Given the description of an element on the screen output the (x, y) to click on. 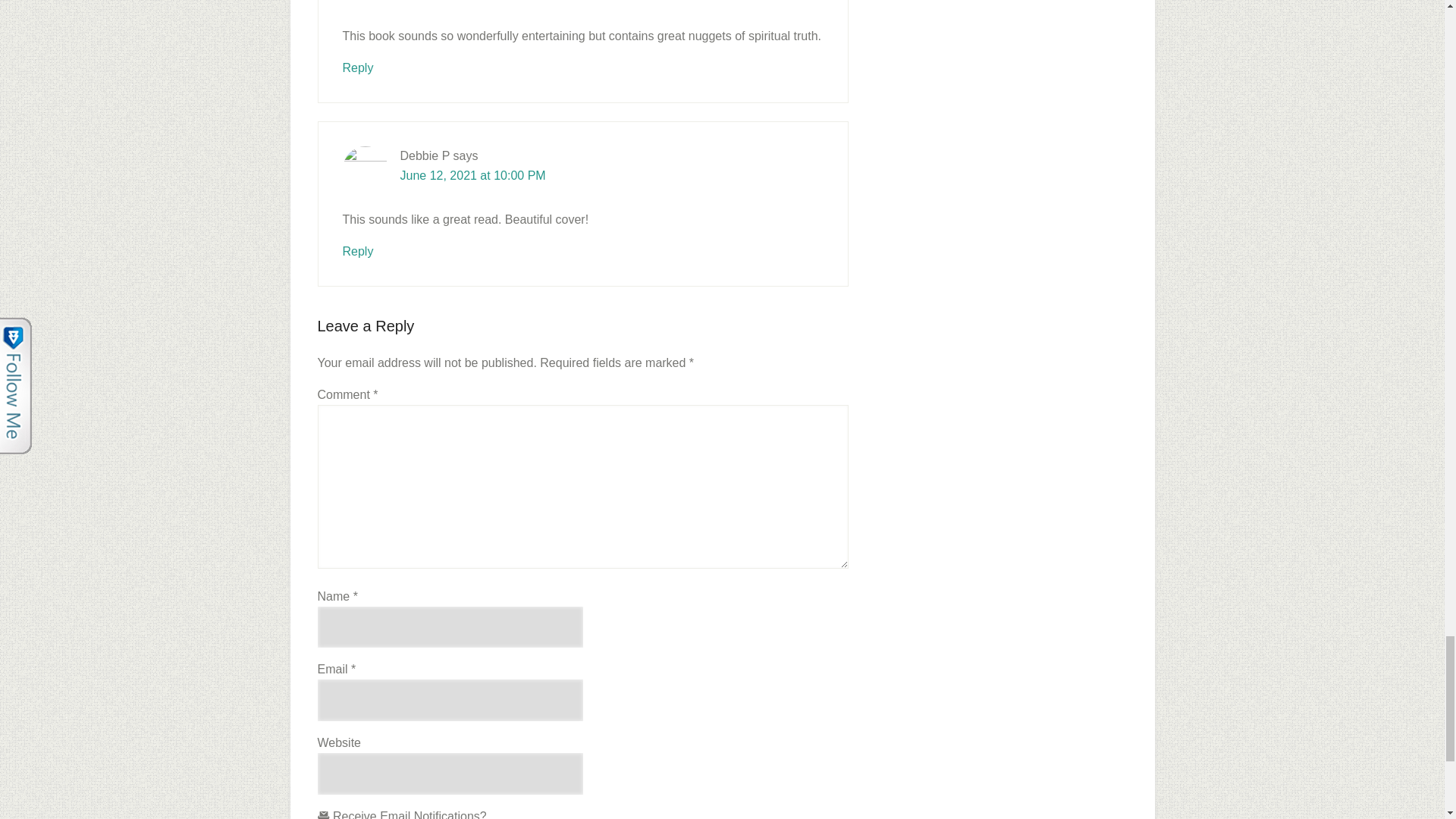
Reply (358, 250)
Reply (358, 67)
June 12, 2021 at 10:00 PM (473, 174)
